Given the description of an element on the screen output the (x, y) to click on. 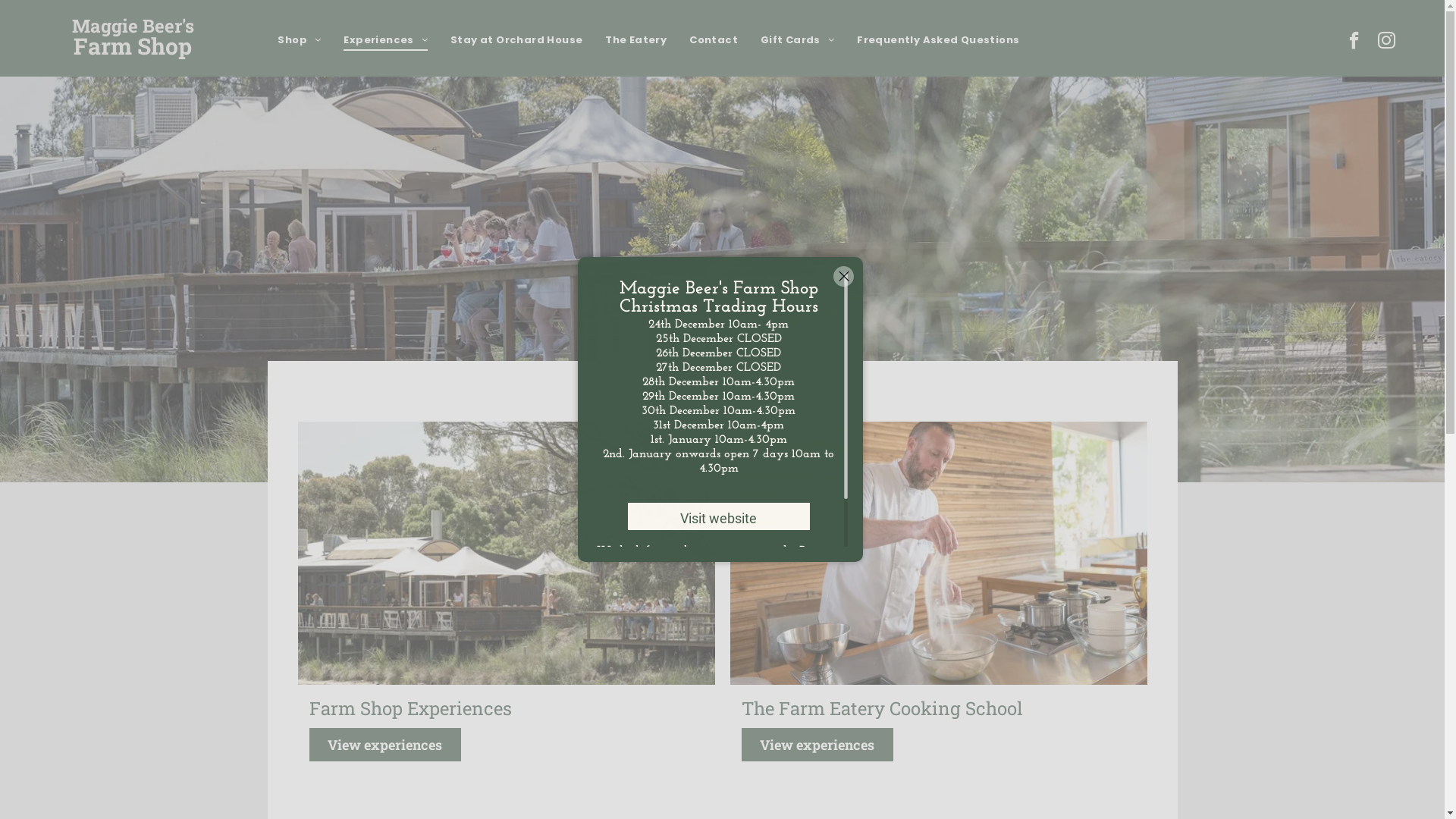
Contact Element type: text (713, 39)
View experiences Element type: text (817, 744)
Frequently Asked Questions Element type: text (937, 39)
Shop Element type: text (299, 39)
Gift Cards Element type: text (797, 39)
The Eatery Element type: text (635, 39)
Experiences Element type: text (385, 39)
Maggie Beer's Element type: text (133, 25)
Visit website Element type: text (717, 515)
Stay at Orchard House Element type: text (516, 39)
View experiences Element type: text (385, 744)
Farm Shop Element type: text (132, 44)
